Given the description of an element on the screen output the (x, y) to click on. 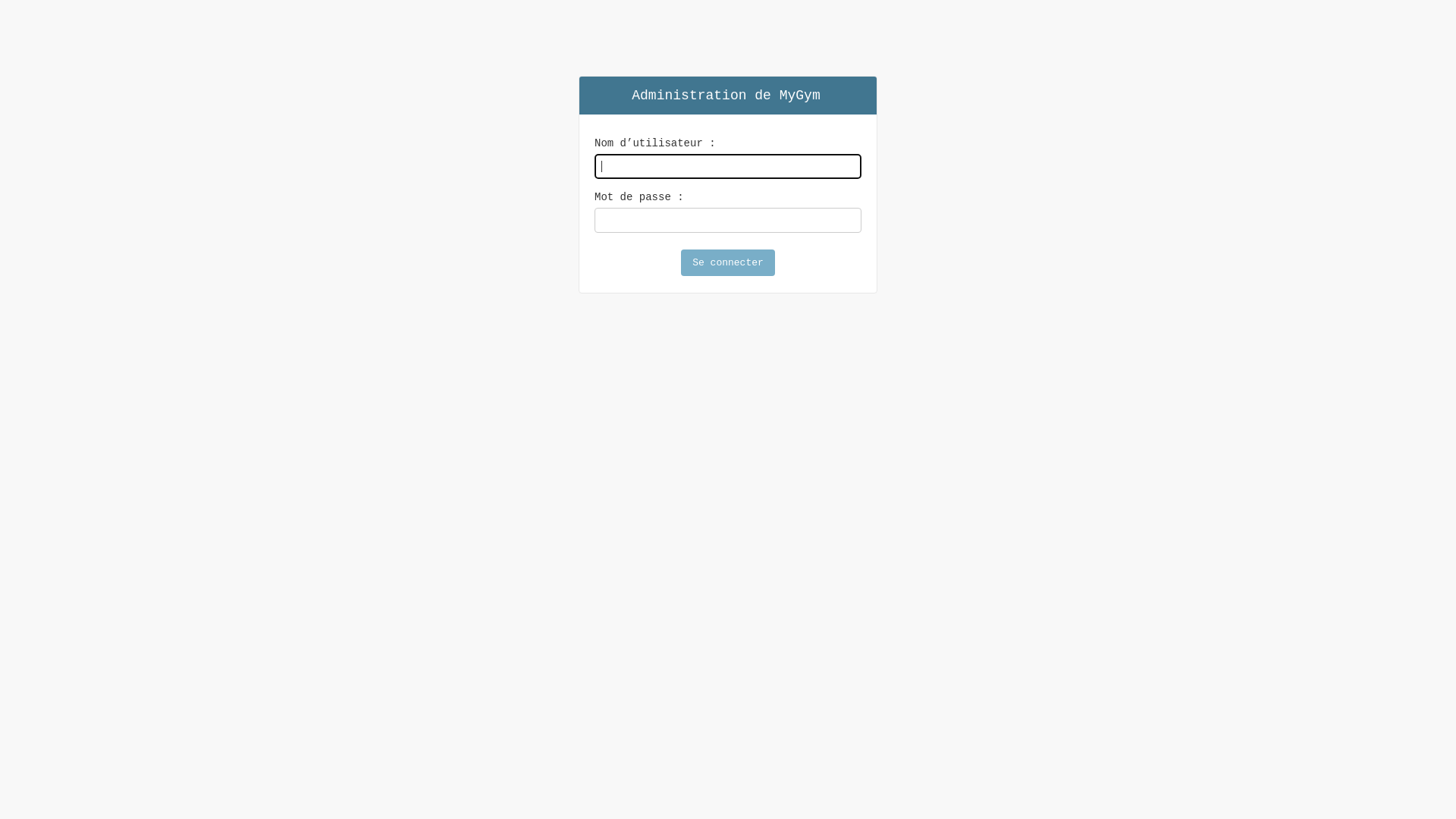
Administration de MyGym Element type: text (725, 95)
Se connecter Element type: text (727, 262)
